Given the description of an element on the screen output the (x, y) to click on. 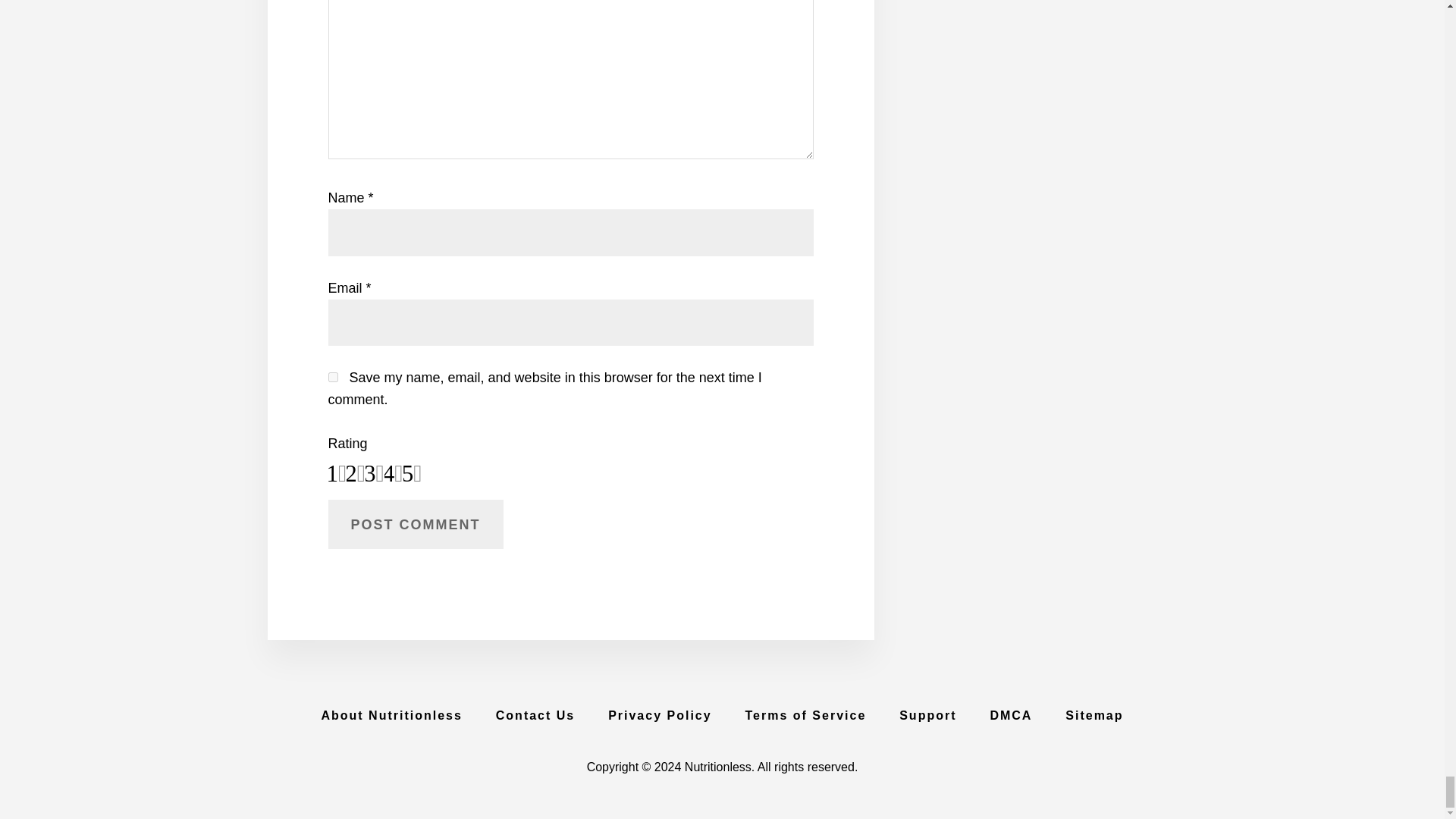
yes (332, 377)
Post Comment (414, 523)
